Given the description of an element on the screen output the (x, y) to click on. 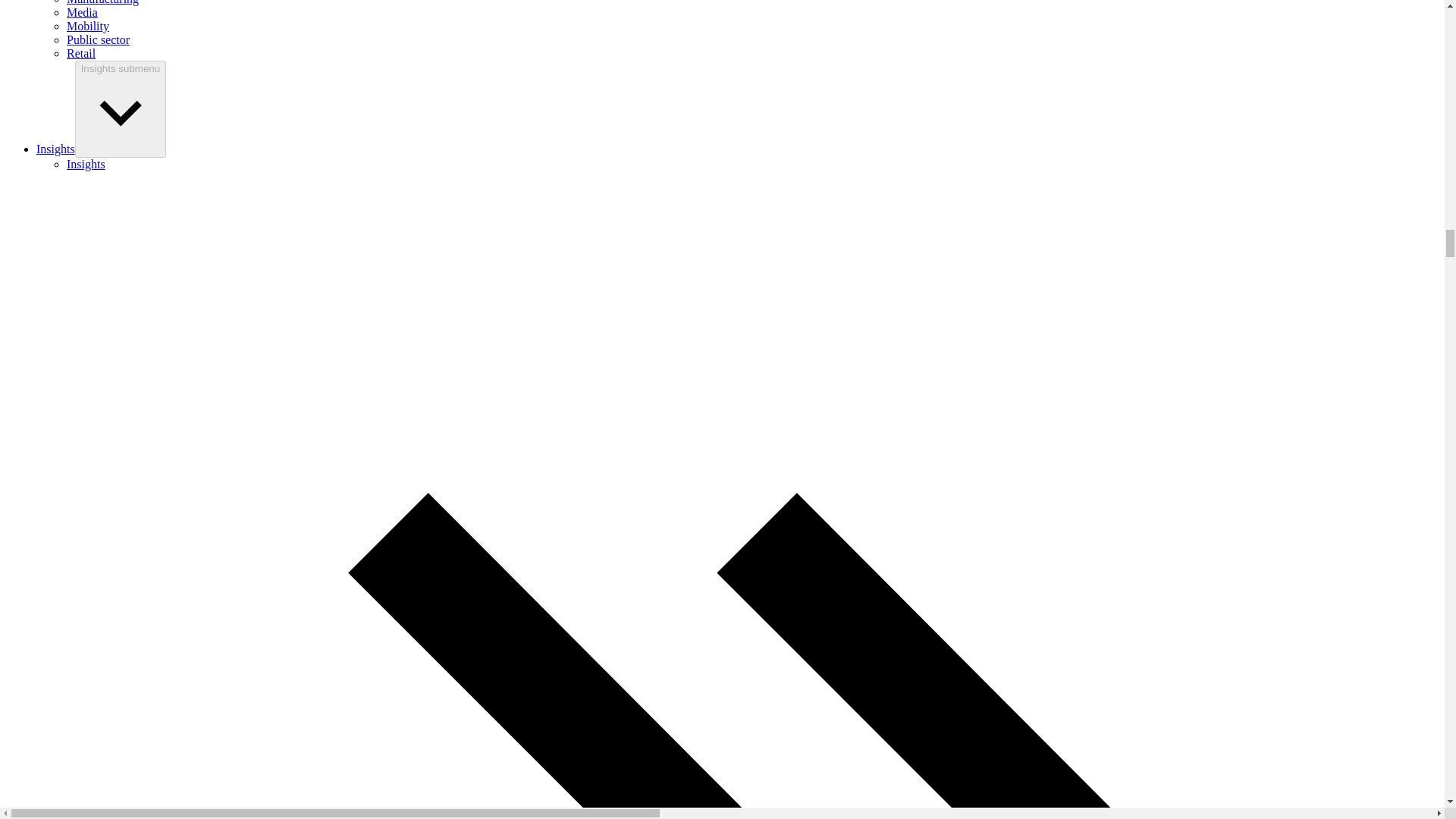
Manufacturing (102, 2)
Insights submenu (120, 109)
Retail (81, 52)
Mobility (87, 25)
Public sector (97, 39)
Media (81, 11)
Insights (55, 148)
